Given the description of an element on the screen output the (x, y) to click on. 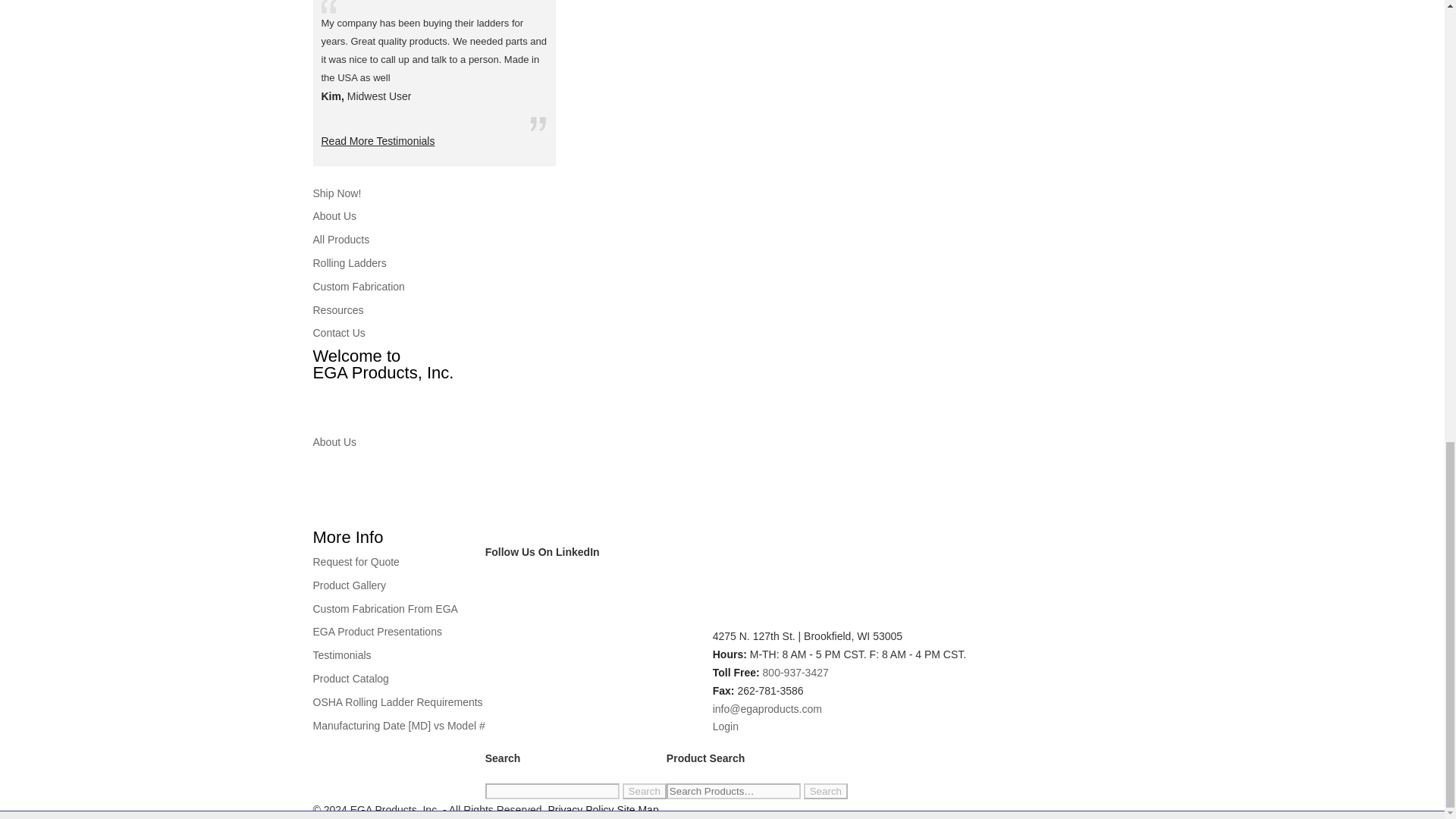
Search for: (733, 790)
Site Map (636, 809)
Search (825, 790)
Search (644, 790)
Privacy Policy (579, 809)
